Given the description of an element on the screen output the (x, y) to click on. 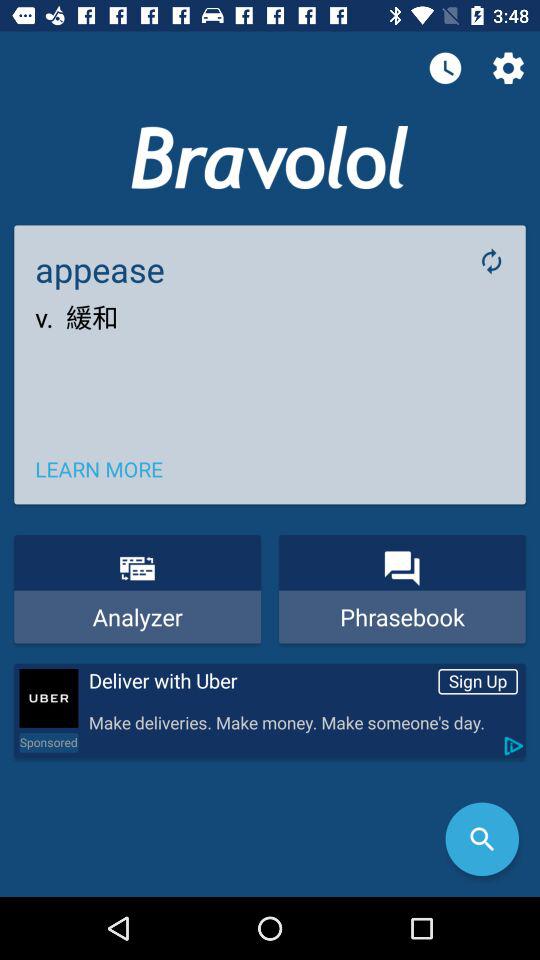
access uber official website (48, 698)
